Given the description of an element on the screen output the (x, y) to click on. 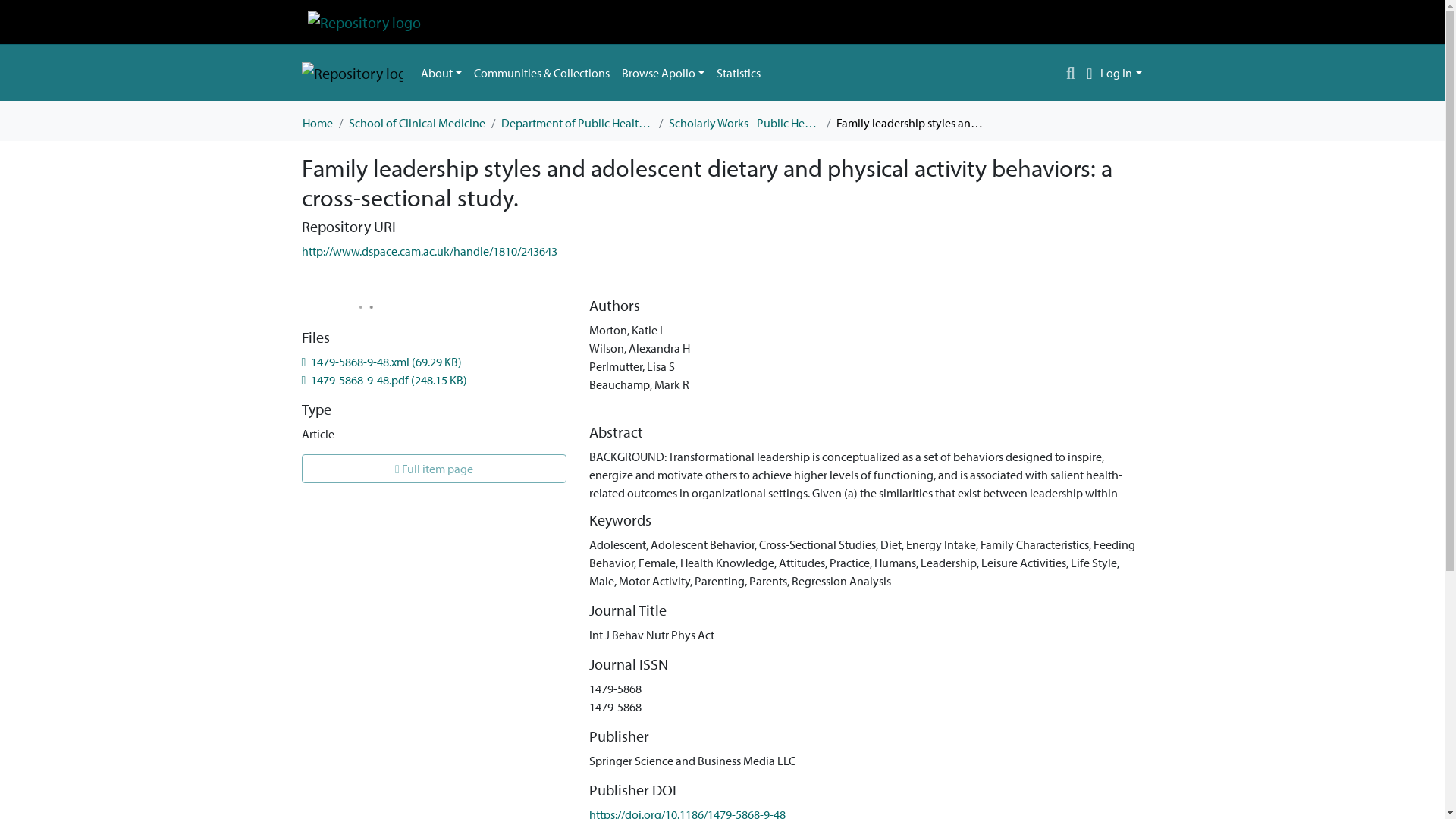
Statistics (738, 72)
Full item page (434, 468)
Search (1070, 72)
Browse Apollo (662, 72)
Language switch (1089, 72)
Department of Public Health and Primary Care (576, 122)
Log In (1120, 72)
Statistics (738, 72)
About (440, 72)
School of Clinical Medicine (416, 122)
